Given the description of an element on the screen output the (x, y) to click on. 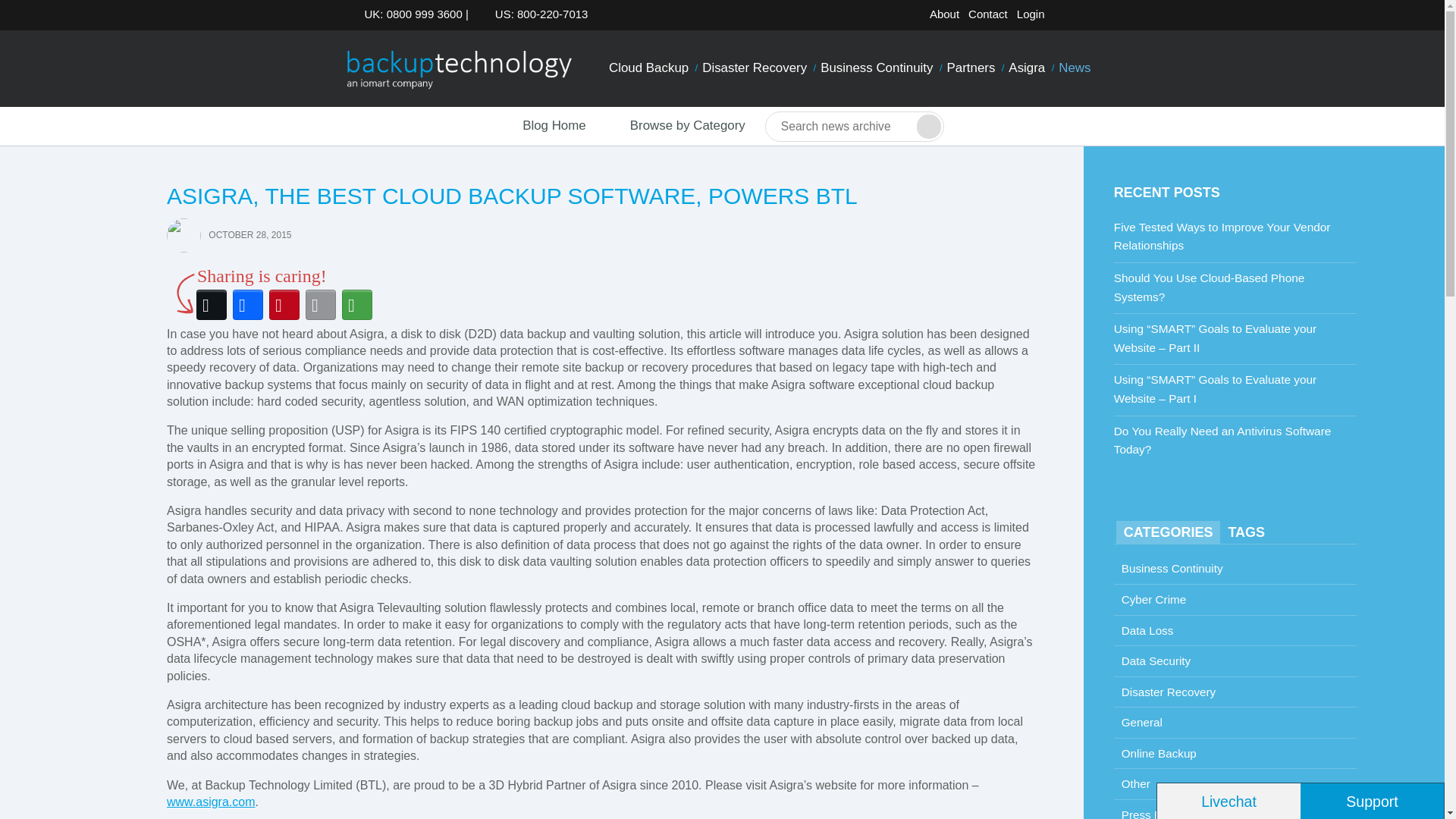
Cloud Backup (648, 68)
Login (1030, 14)
Partners (971, 68)
News (1074, 68)
Search (928, 126)
Blog Home (539, 126)
Contact (987, 14)
twitter (1064, 17)
More Options (357, 304)
Search (928, 126)
View all posts by Kris Price. (183, 234)
US: 800-220-7013 (536, 14)
Asigra (1026, 68)
About (943, 14)
Browse by Category (675, 126)
